Given the description of an element on the screen output the (x, y) to click on. 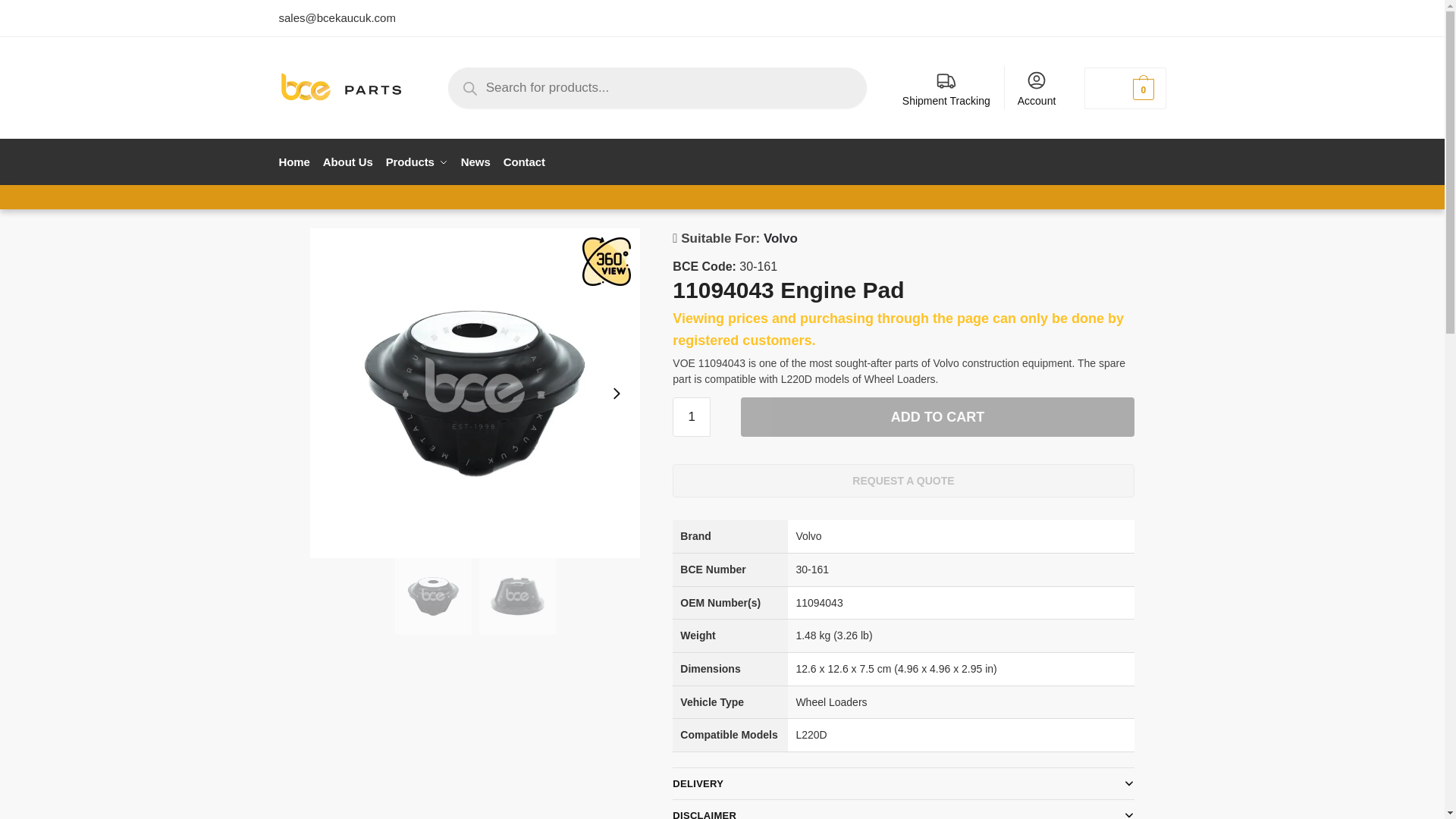
click to zoom-in (475, 392)
Products (416, 162)
View your shopping cart (1125, 87)
About Us (347, 162)
1 (691, 416)
Shipment Tracking (945, 87)
Volvo-11094043-30-161-3.jpg (517, 595)
Account (1037, 87)
Volvo-11094043-30-161-2.jpg (432, 595)
